Given the description of an element on the screen output the (x, y) to click on. 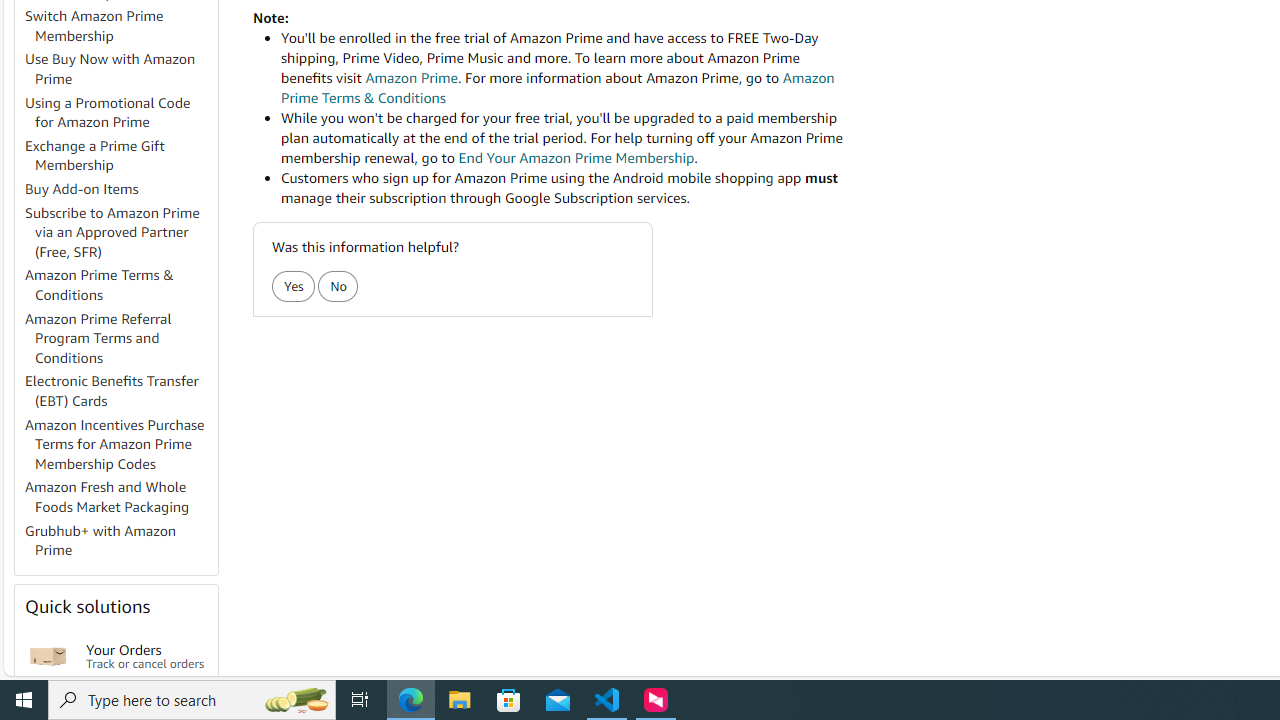
No (338, 286)
Switch Amazon Prime Membership (94, 25)
Use Buy Now with Amazon Prime (110, 69)
Use Buy Now with Amazon Prime (120, 69)
